Given the description of an element on the screen output the (x, y) to click on. 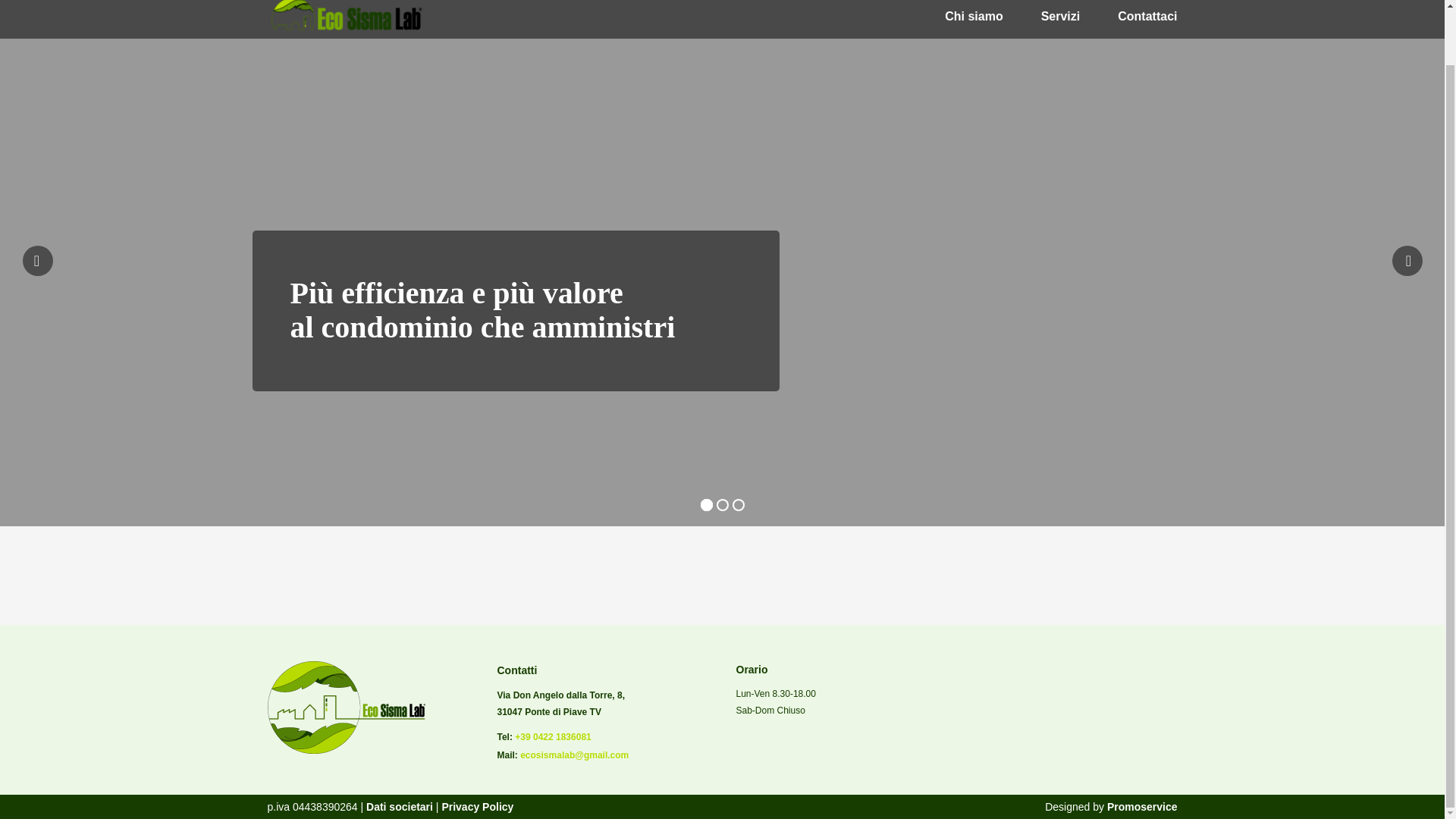
Dati societari (397, 806)
Contattaci (1147, 15)
Servizi (1060, 15)
Chi siamo (973, 15)
Promoservice (1141, 806)
Privacy Policy (477, 806)
